Given the description of an element on the screen output the (x, y) to click on. 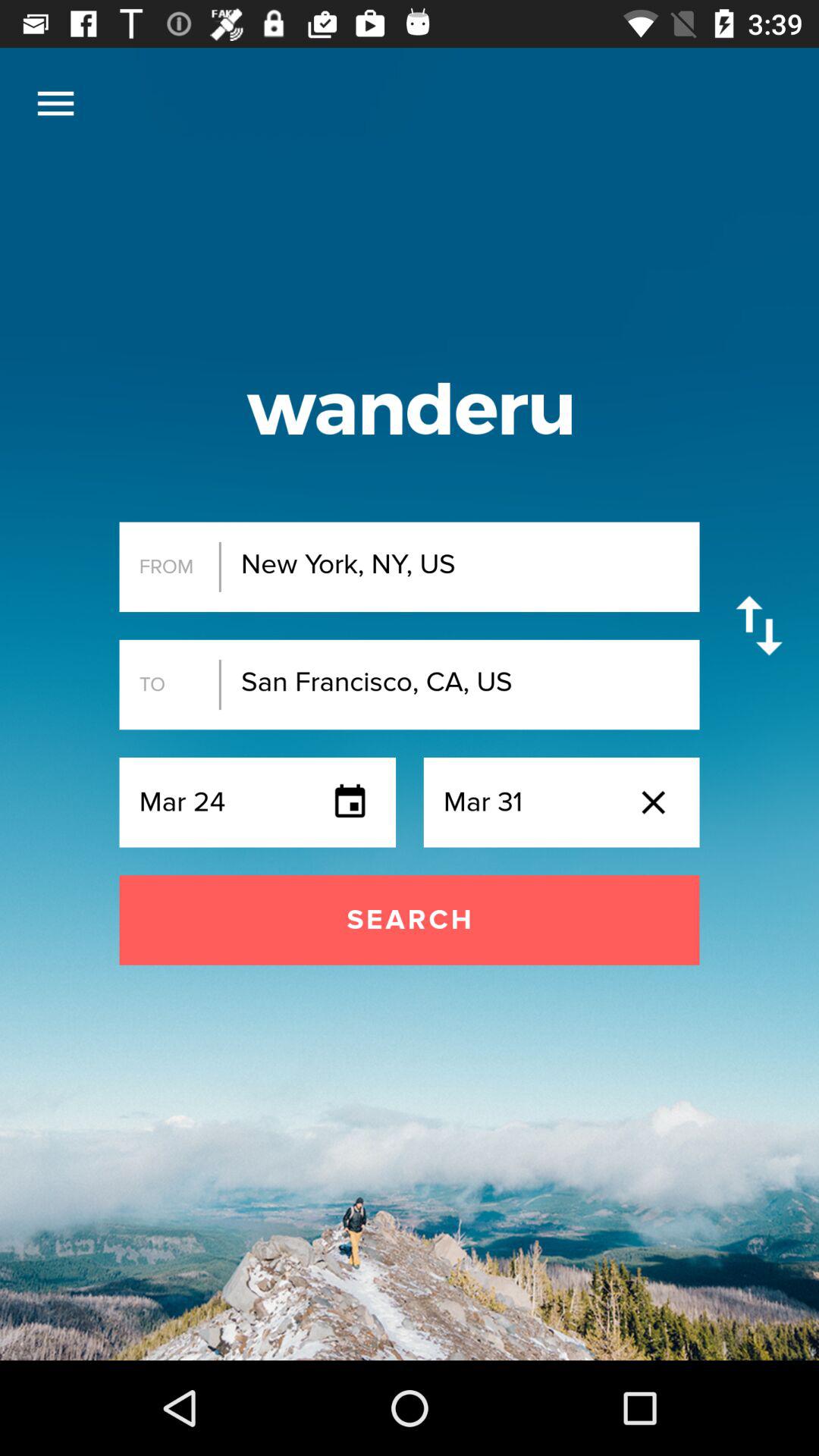
choose the item at the top left corner (55, 103)
